Given the description of an element on the screen output the (x, y) to click on. 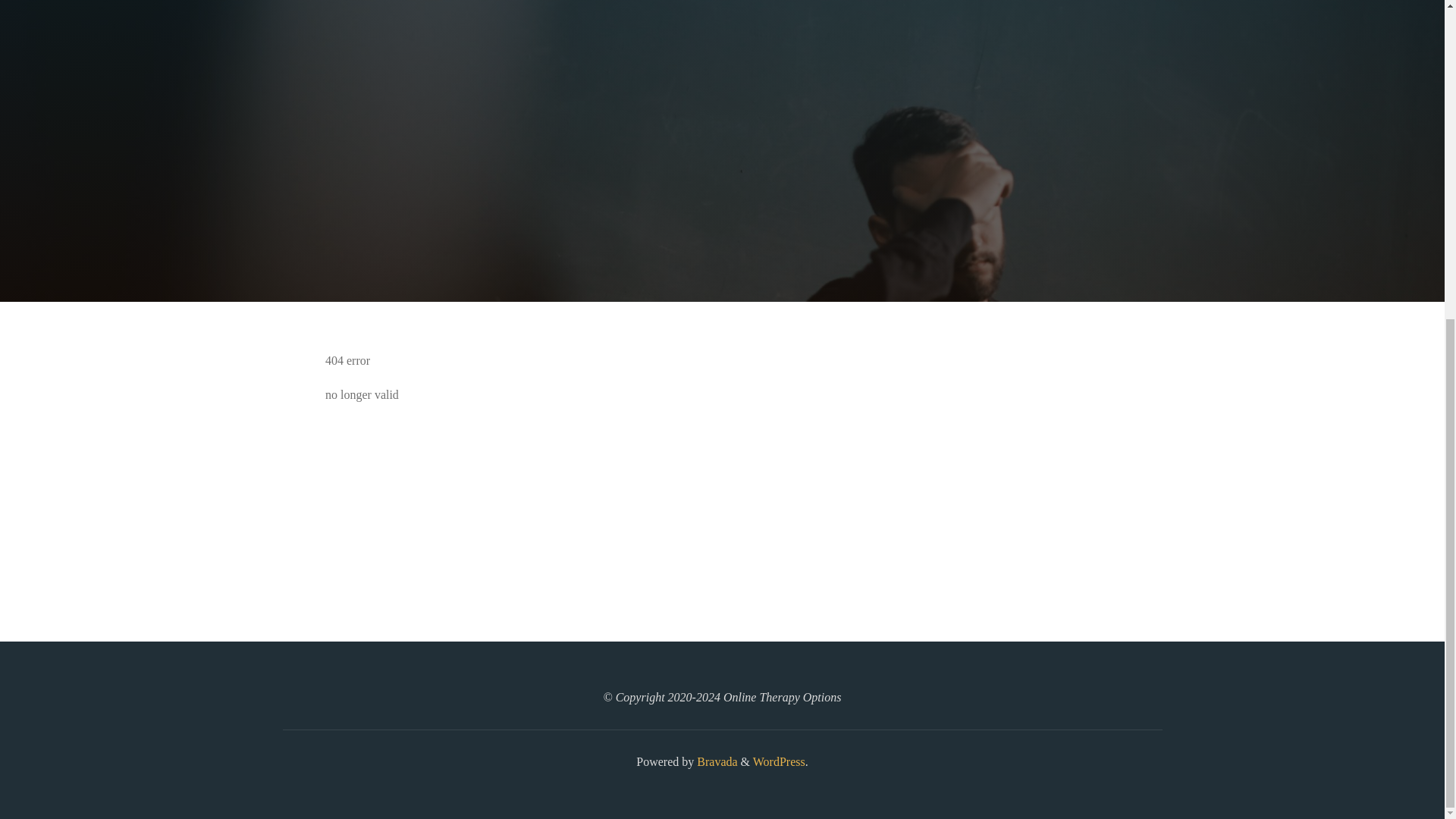
Semantic Personal Publishing Platform (778, 761)
Bravada (715, 761)
WordPress (778, 761)
Bravada WordPress Theme by Cryout Creations (715, 761)
Read more (721, 207)
